Given the description of an element on the screen output the (x, y) to click on. 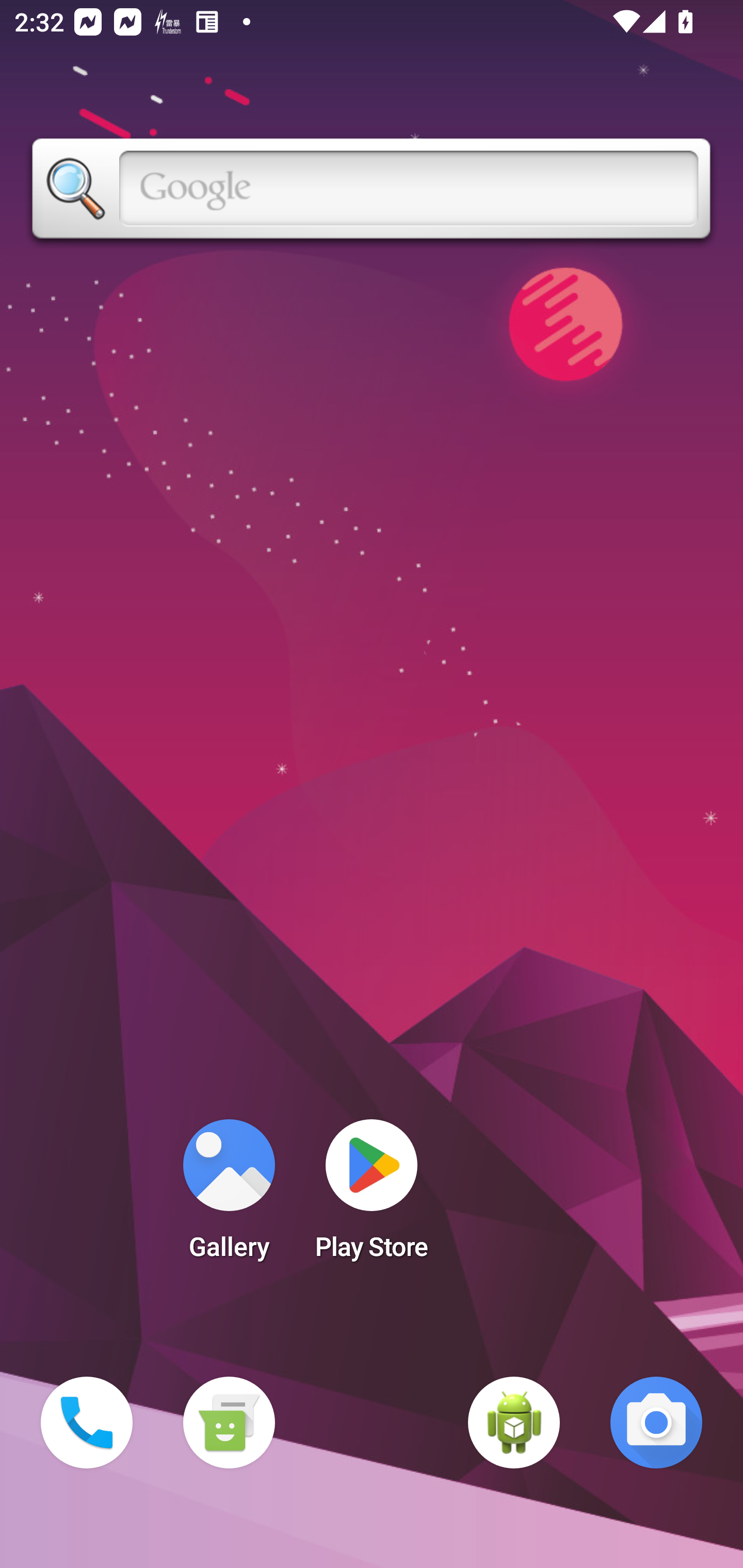
Gallery (228, 1195)
Play Store (371, 1195)
Phone (86, 1422)
Messaging (228, 1422)
WebView Browser Tester (513, 1422)
Camera (656, 1422)
